Given the description of an element on the screen output the (x, y) to click on. 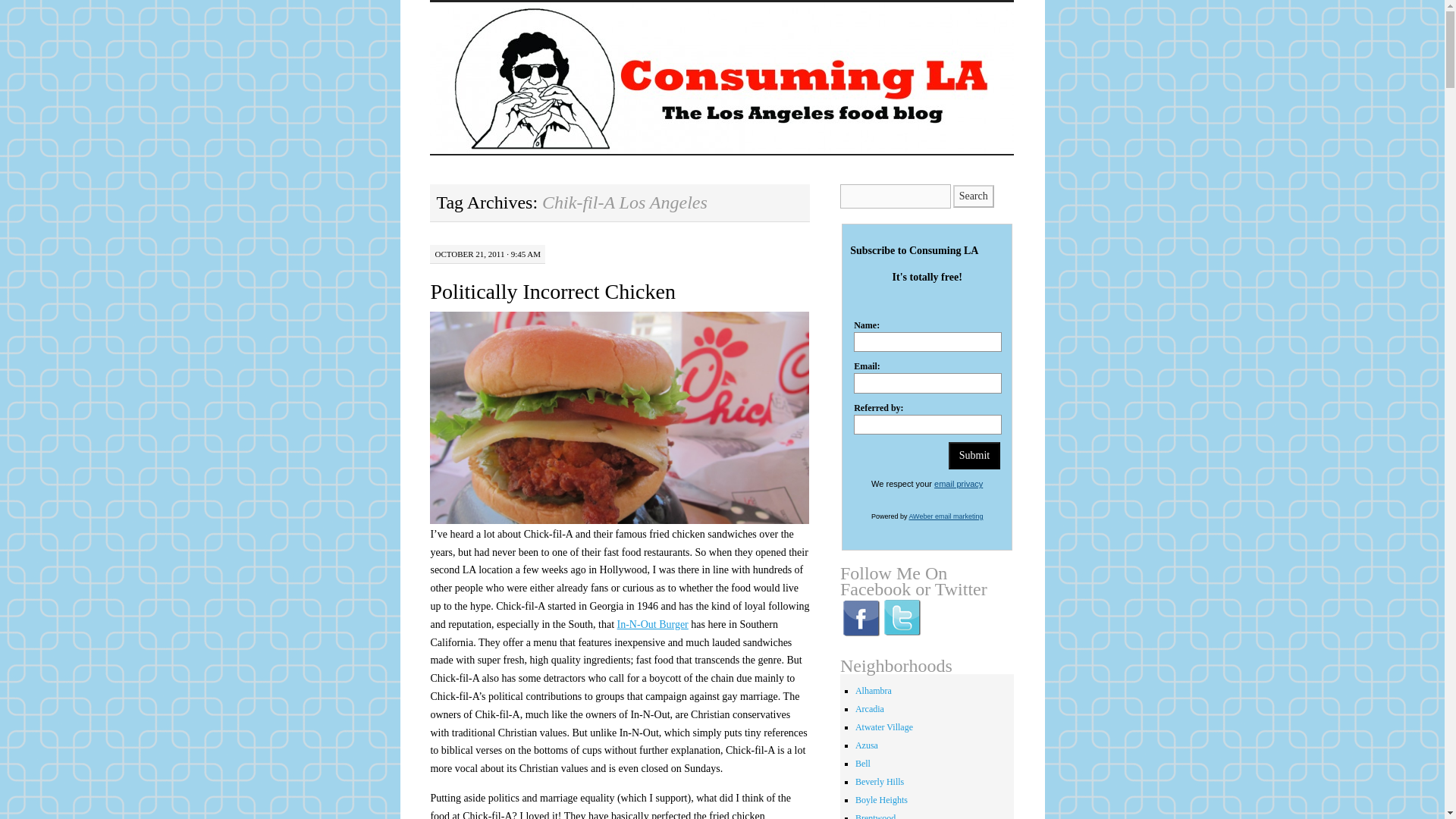
Search (973, 196)
Consuming LA (528, 26)
Politically Incorrect Chicken (552, 291)
Submit (974, 455)
In-N-Out Burger (652, 624)
AWeber email marketing (945, 516)
Privacy Policy (958, 483)
Consuming LA (528, 26)
Spicy Chicken Sandwich Deluxe (619, 418)
In-N-Out (652, 624)
